Given the description of an element on the screen output the (x, y) to click on. 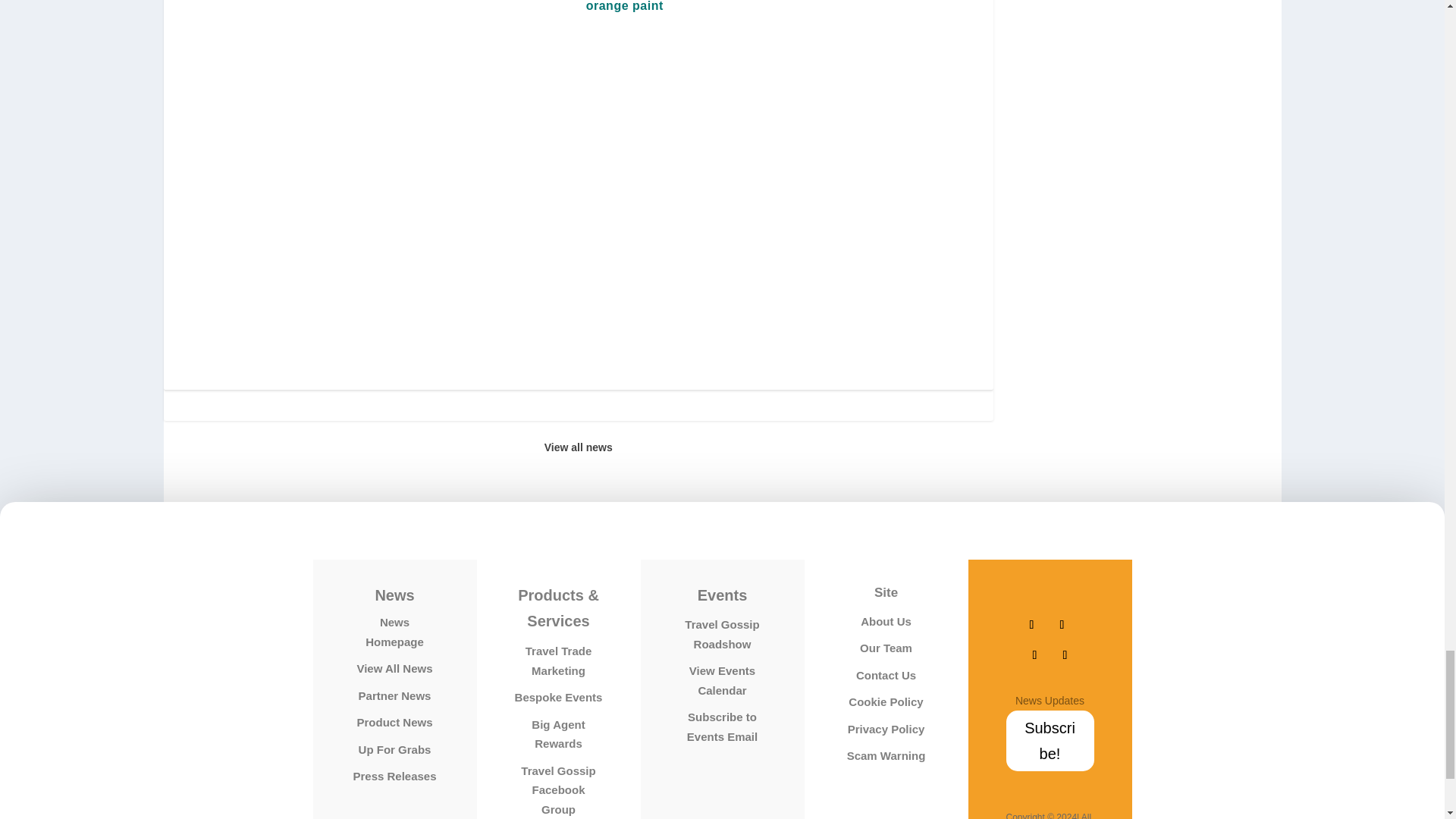
Follow on LinkedIn (1064, 654)
Follow on Facebook (1031, 624)
Follow on Instagram (1034, 654)
Follow on X (1061, 624)
